Given the description of an element on the screen output the (x, y) to click on. 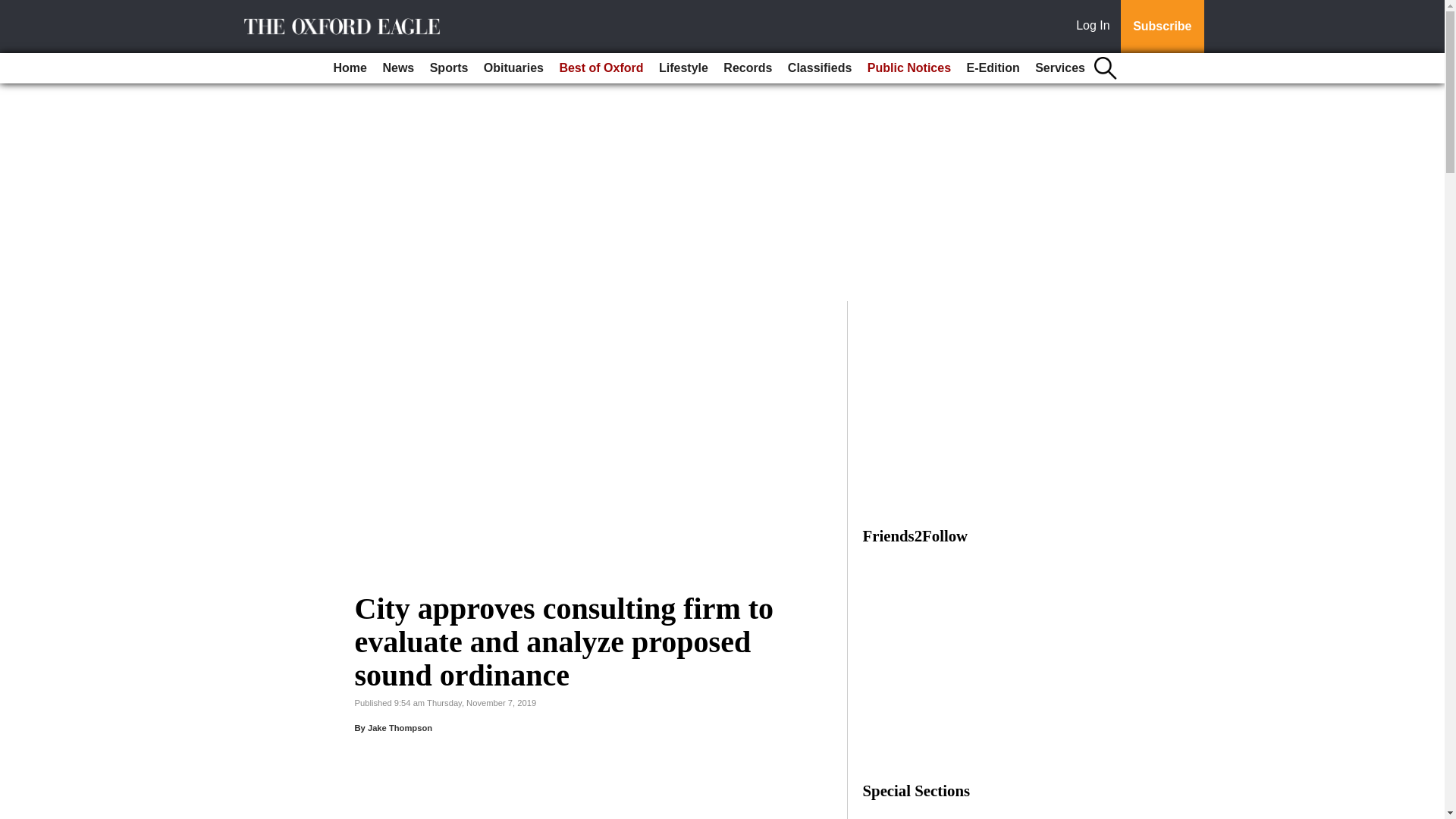
E-Edition (992, 68)
Best of Oxford (601, 68)
Obituaries (513, 68)
Jake Thompson (400, 727)
Home (349, 68)
Sports (448, 68)
Services (1059, 68)
News (397, 68)
Lifestyle (683, 68)
Records (747, 68)
Subscribe (1162, 26)
Go (13, 9)
Log In (1095, 26)
Classifieds (819, 68)
Public Notices (908, 68)
